Given the description of an element on the screen output the (x, y) to click on. 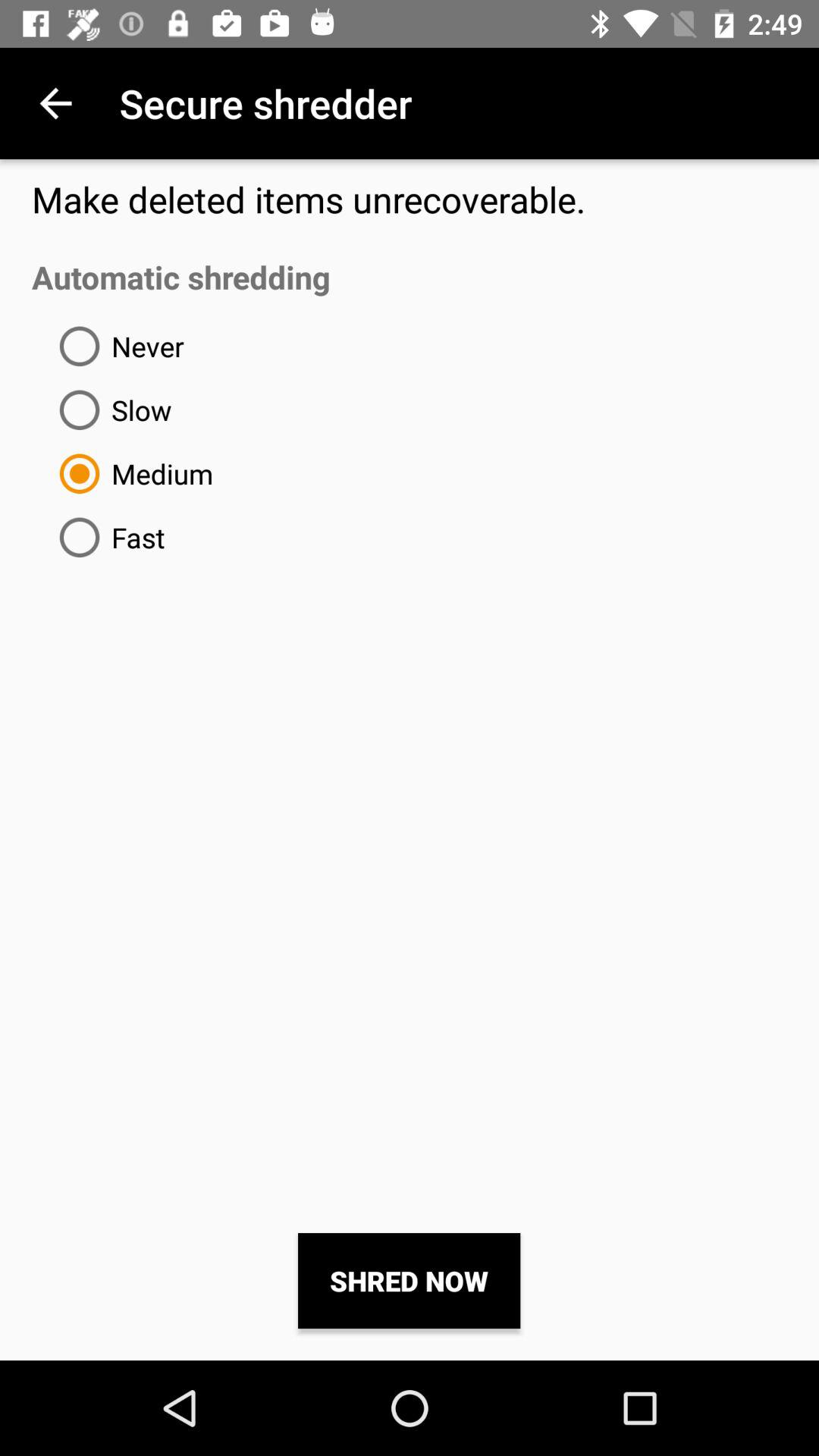
select item to the left of the secure shredder icon (55, 103)
